Given the description of an element on the screen output the (x, y) to click on. 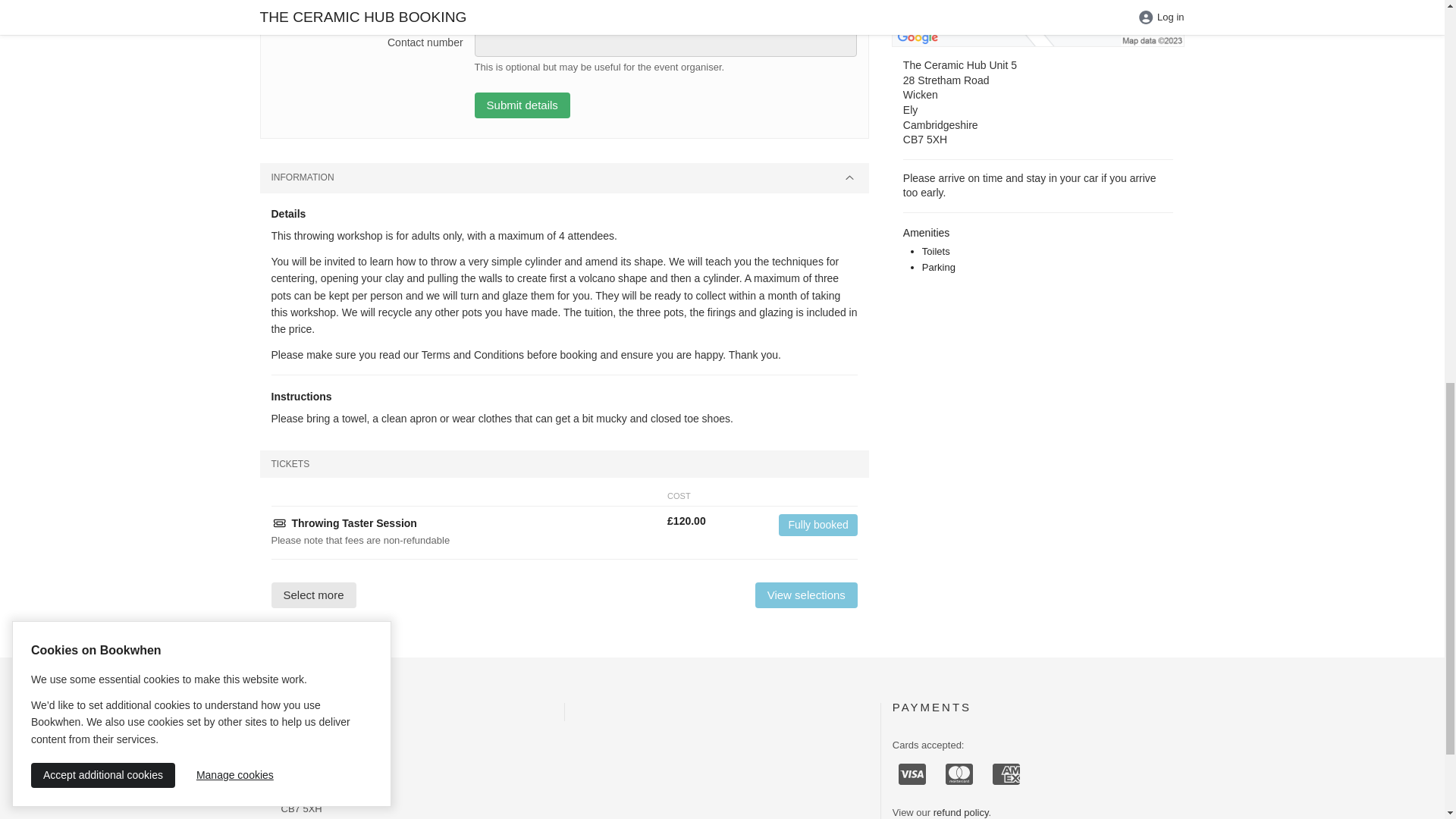
Submit details (522, 104)
Fully booked (817, 525)
Mastercard (958, 774)
Submit details (522, 104)
refund policy (960, 812)
INFORMATION (563, 177)
Select more (313, 595)
View selections (806, 595)
Visa (911, 774)
Amex (1006, 774)
